Given the description of an element on the screen output the (x, y) to click on. 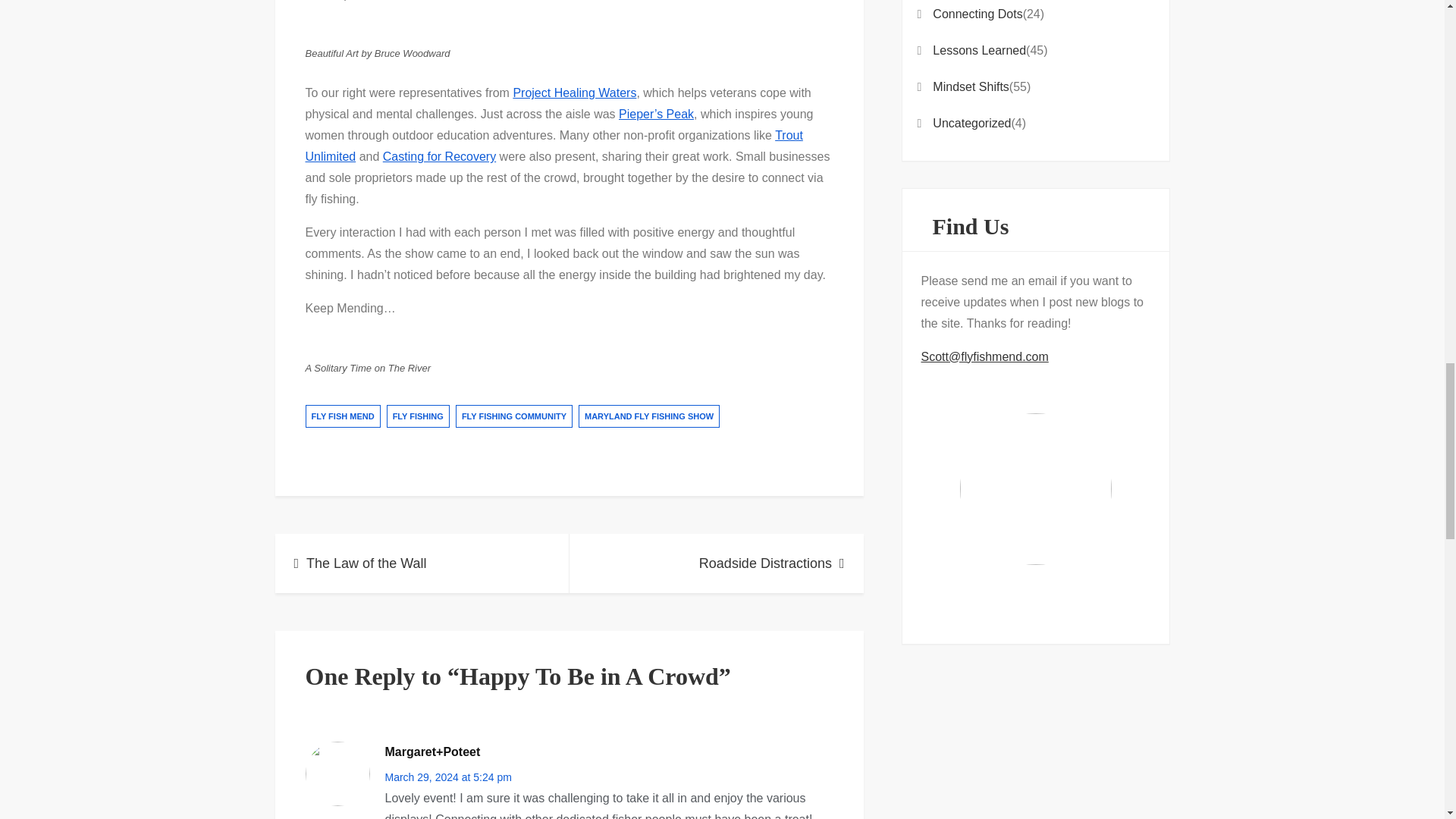
March 29, 2024 at 5:24 pm (448, 776)
Casting for Recovery (439, 155)
FLY FISHING COMMUNITY (513, 415)
Roadside Distractions (716, 562)
The Law of the Wall (422, 562)
FLY FISH MEND (342, 415)
Trout Unlimited (553, 145)
FLY FISHING (418, 415)
MARYLAND FLY FISHING SHOW (648, 415)
Project Healing Waters (574, 92)
